Given the description of an element on the screen output the (x, y) to click on. 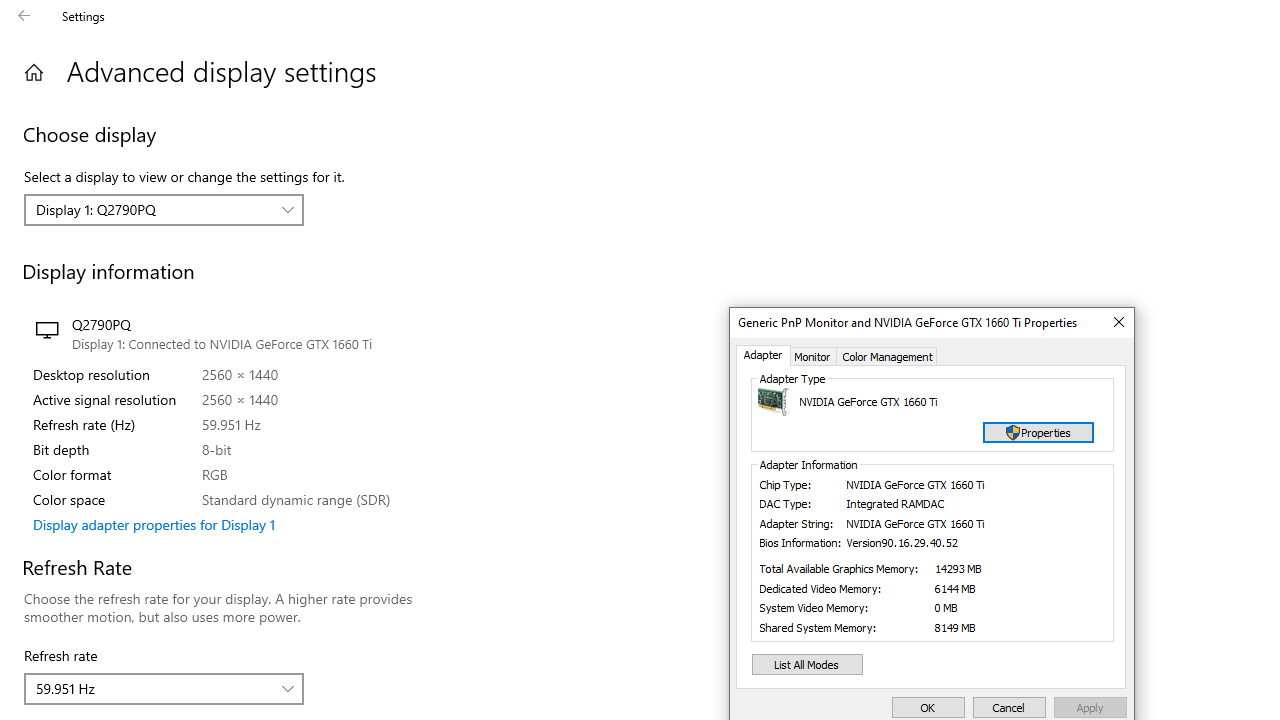
Color Management (888, 356)
Adapter (763, 356)
Close (1117, 322)
Cancel (1009, 707)
Properties (1037, 432)
Apply (1090, 707)
List All Modes (807, 664)
OK (928, 707)
Monitor (812, 356)
